Given the description of an element on the screen output the (x, y) to click on. 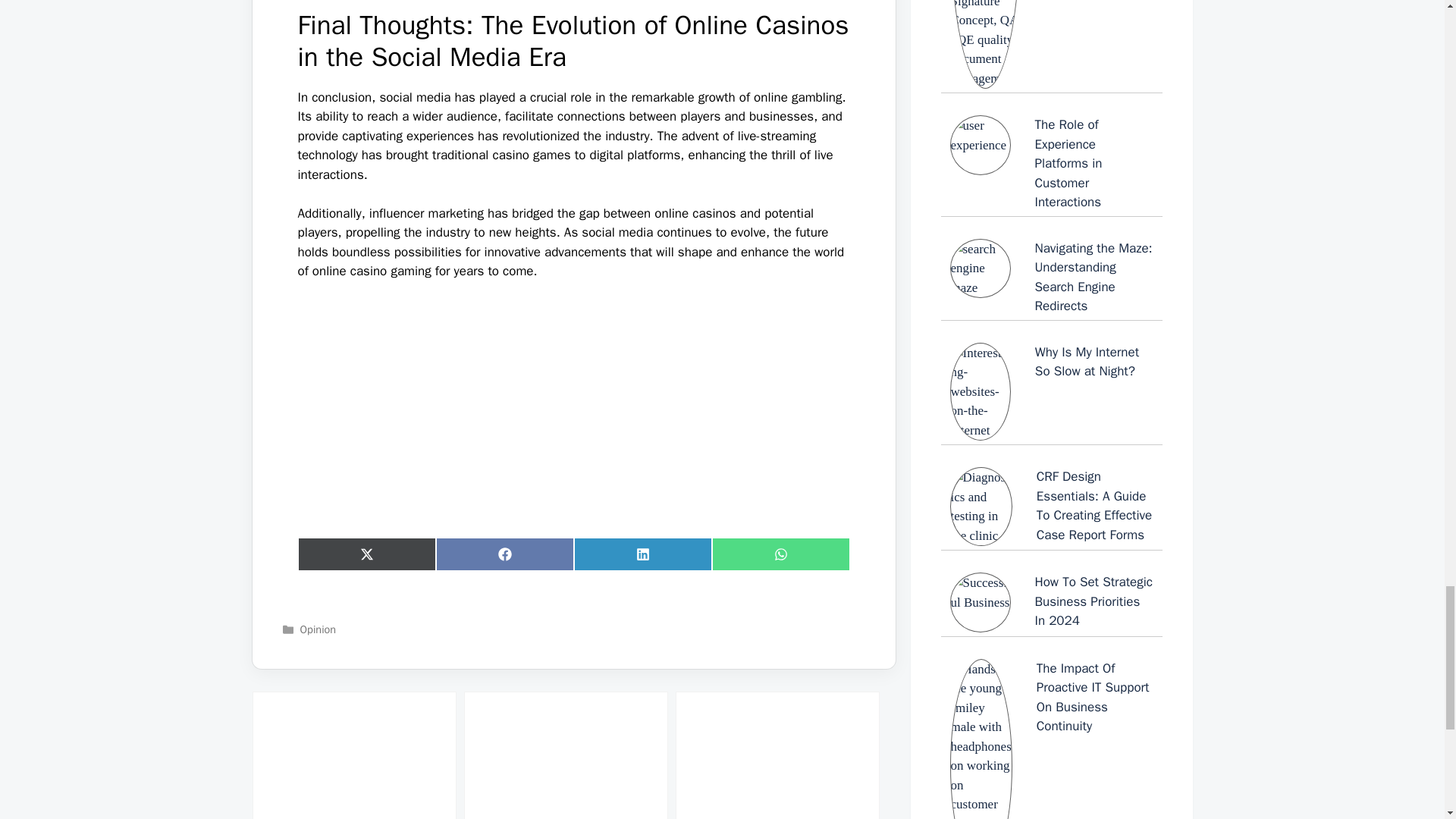
Why You Should Consider Video Transcription (566, 755)
